Given the description of an element on the screen output the (x, y) to click on. 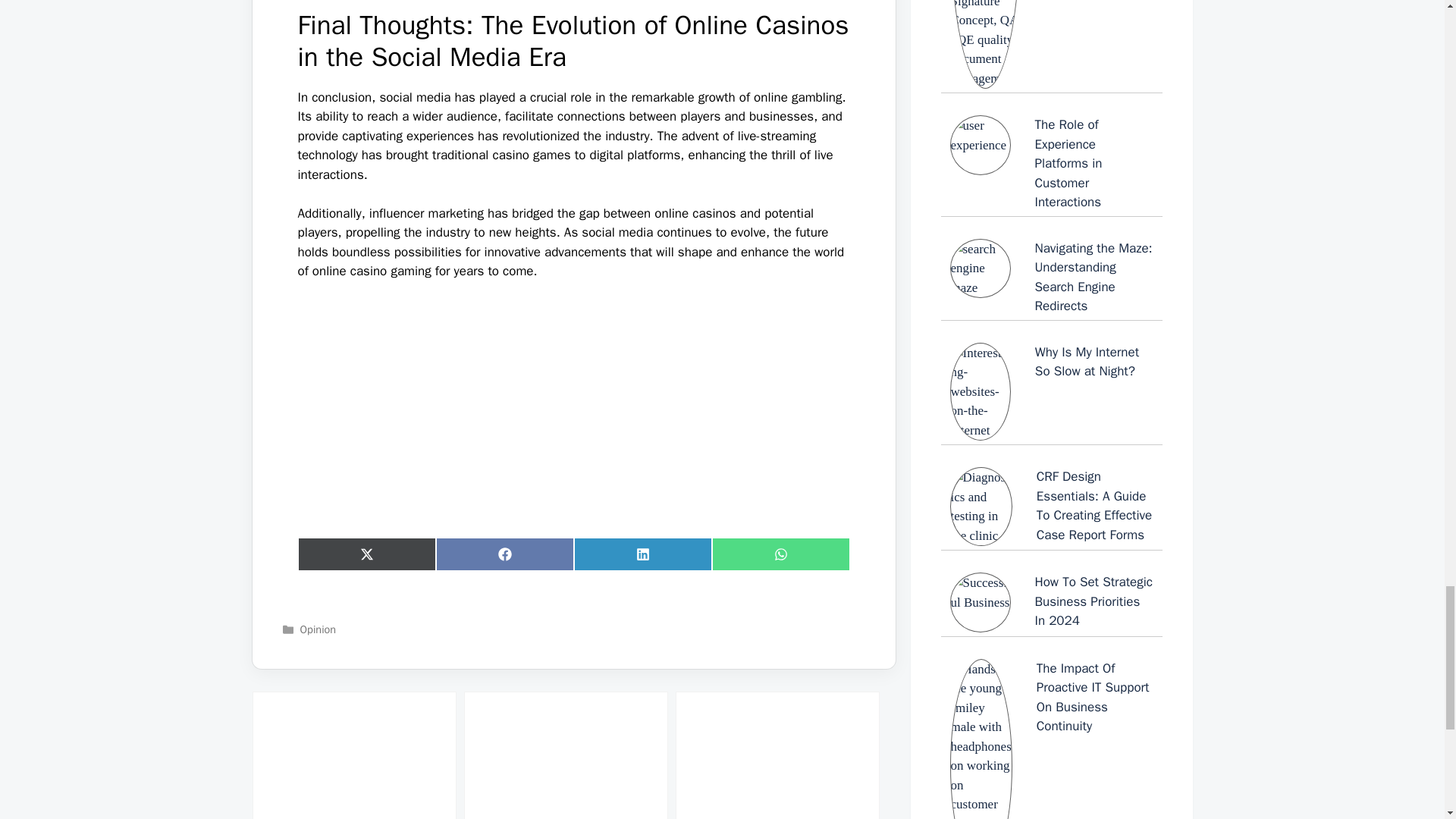
Why You Should Consider Video Transcription (566, 755)
